Given the description of an element on the screen output the (x, y) to click on. 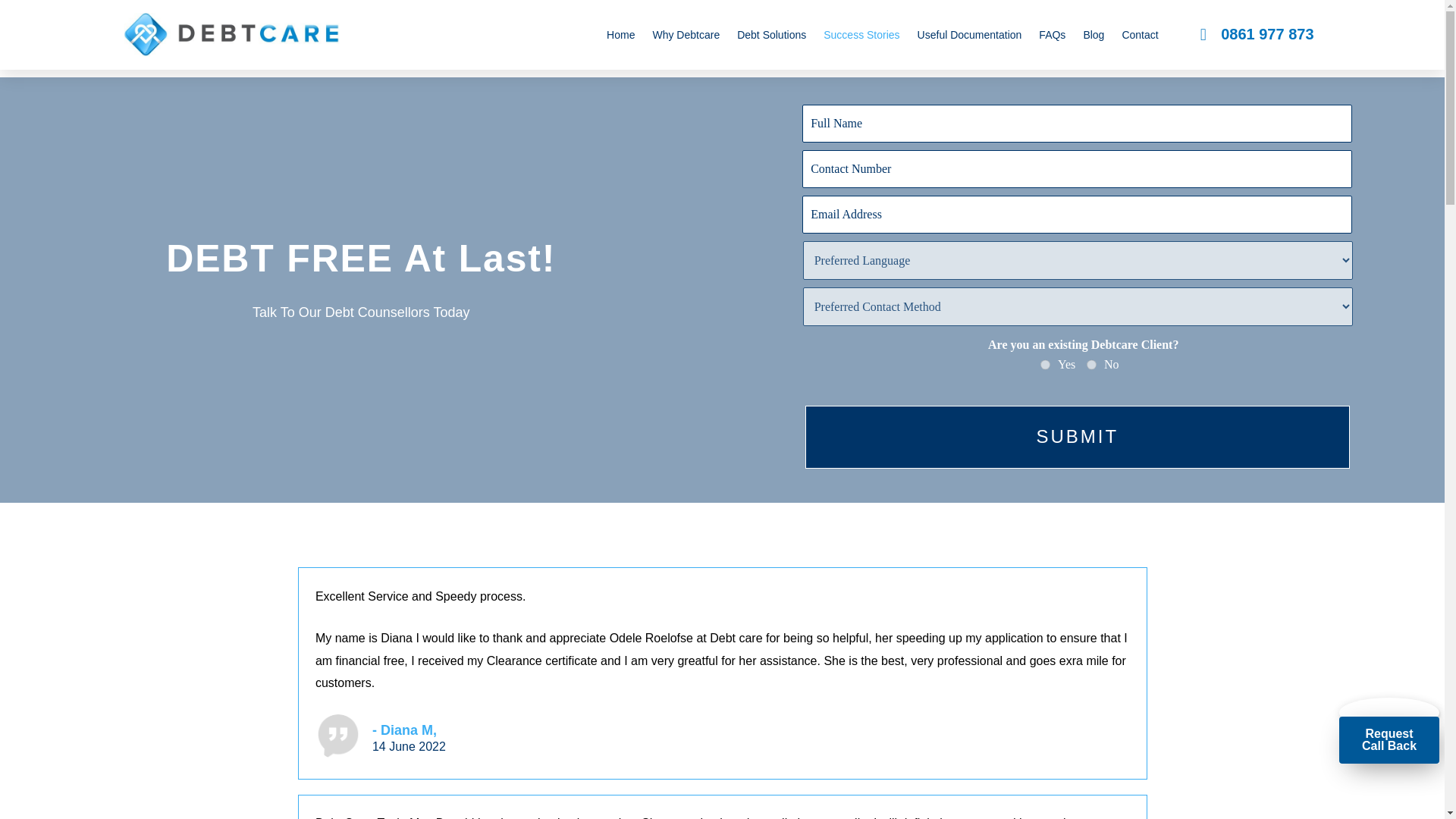
Debt Solutions (771, 34)
Success Stories (861, 34)
0861 977 873 (1256, 34)
Useful Documentation (969, 34)
Submit (1077, 436)
Why Debtcare (685, 34)
Submit (1077, 436)
